Given the description of an element on the screen output the (x, y) to click on. 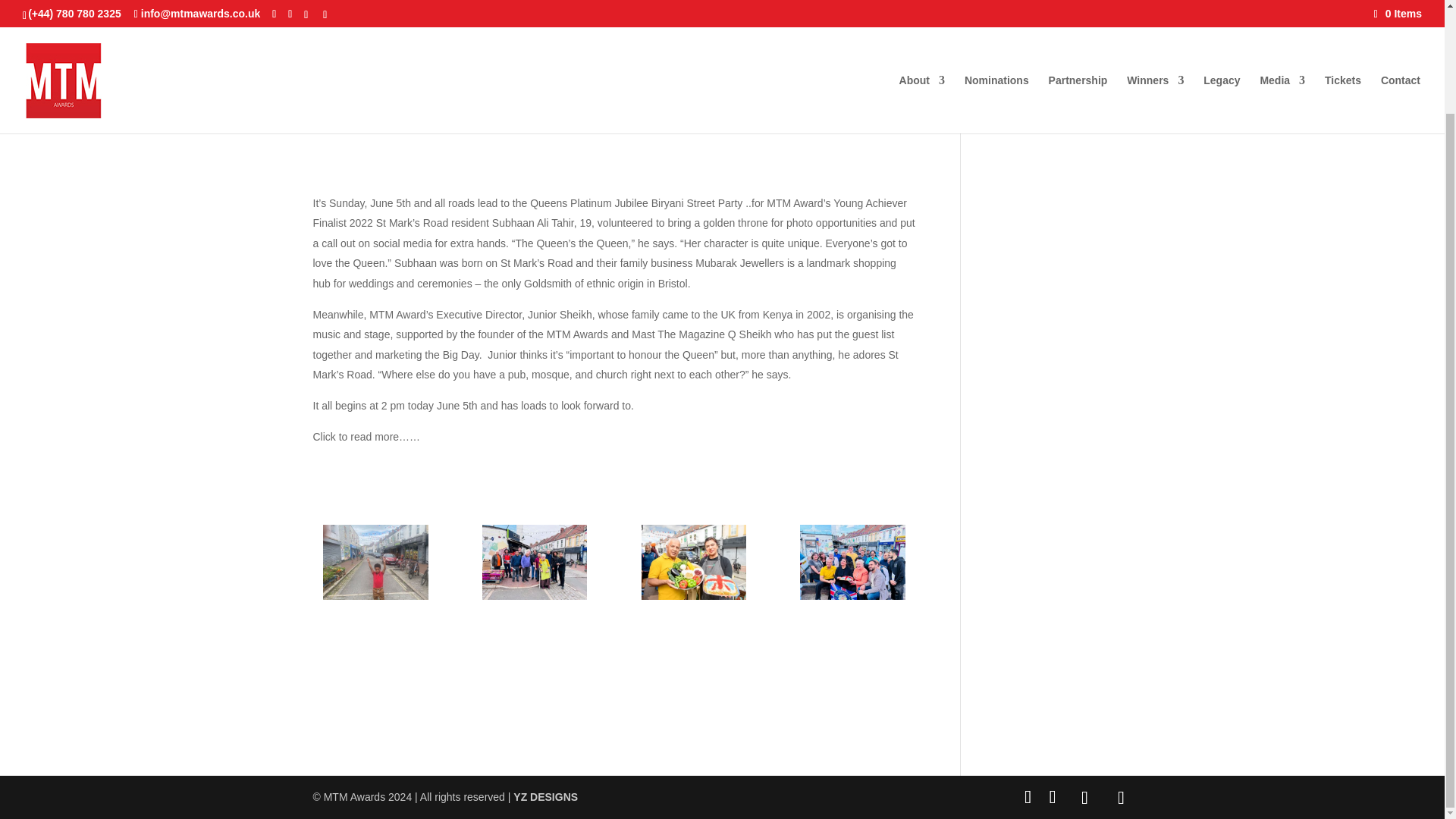
Contact (1400, 6)
Partnership (1078, 6)
Media (1281, 6)
Legacy (1222, 6)
Charity Causes (1222, 6)
About (921, 6)
Winners (1154, 6)
Bristol Web designers YZ DESIGNS (545, 797)
Tickets (1342, 6)
Nominations (996, 6)
Media (1281, 6)
